Given the description of an element on the screen output the (x, y) to click on. 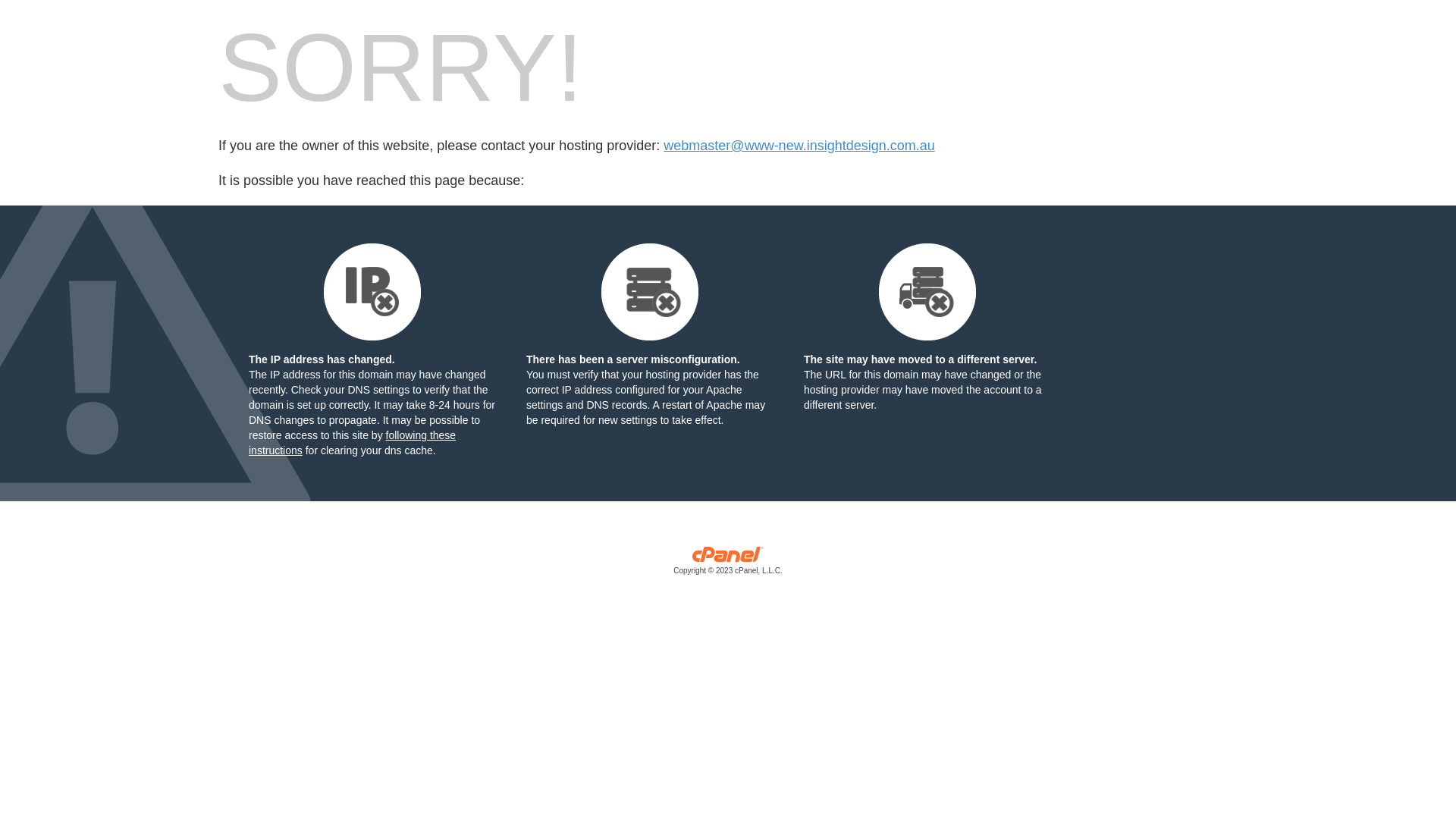
webmaster@www-new.insightdesign.com.au Element type: text (798, 145)
following these instructions Element type: text (351, 442)
